Given the description of an element on the screen output the (x, y) to click on. 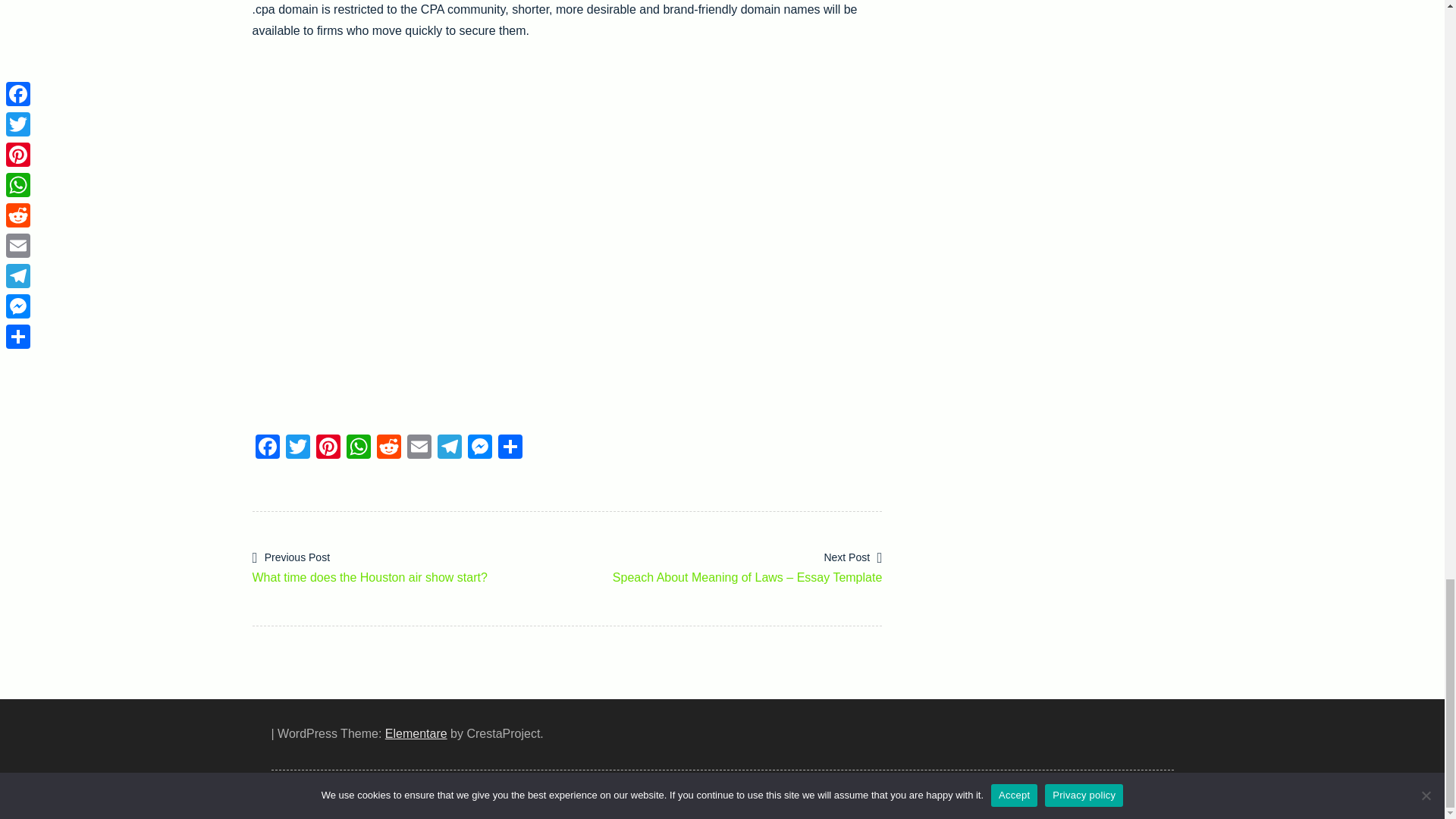
Facebook (266, 448)
Twitter (297, 448)
WhatsApp (357, 448)
Facebook (266, 448)
Messenger (479, 448)
Pinterest (327, 448)
WhatsApp (357, 448)
Messenger (479, 448)
Elementare (415, 733)
Telegram (448, 448)
Email (418, 448)
Twitter (297, 448)
Reddit (387, 448)
Pinterest (327, 448)
